Given the description of an element on the screen output the (x, y) to click on. 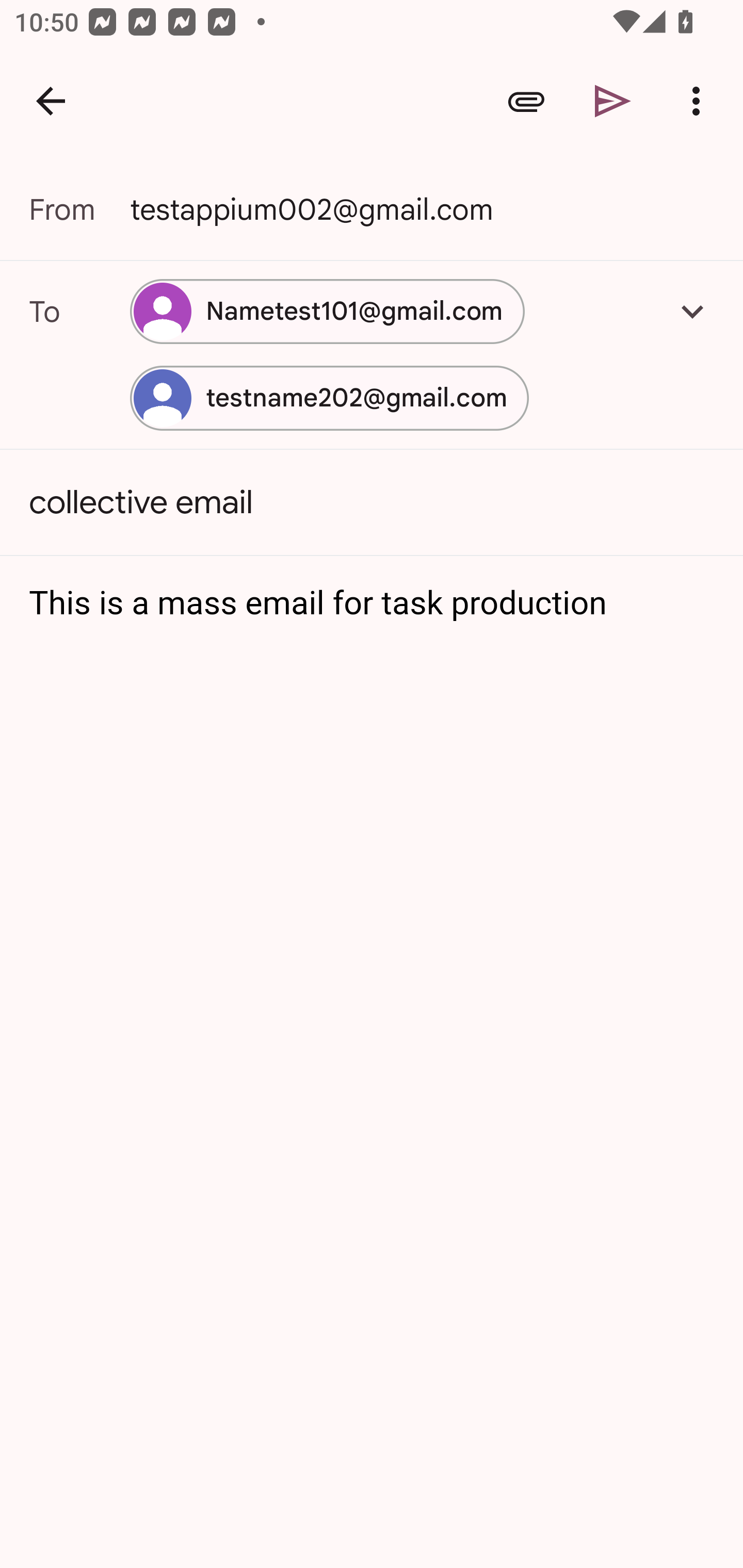
Navigate up (50, 101)
Attach file (525, 101)
Send (612, 101)
More options (699, 101)
From (79, 209)
Add Cc/Bcc (692, 311)
collective email (371, 502)
This is a mass email for task production (372, 603)
